Given the description of an element on the screen output the (x, y) to click on. 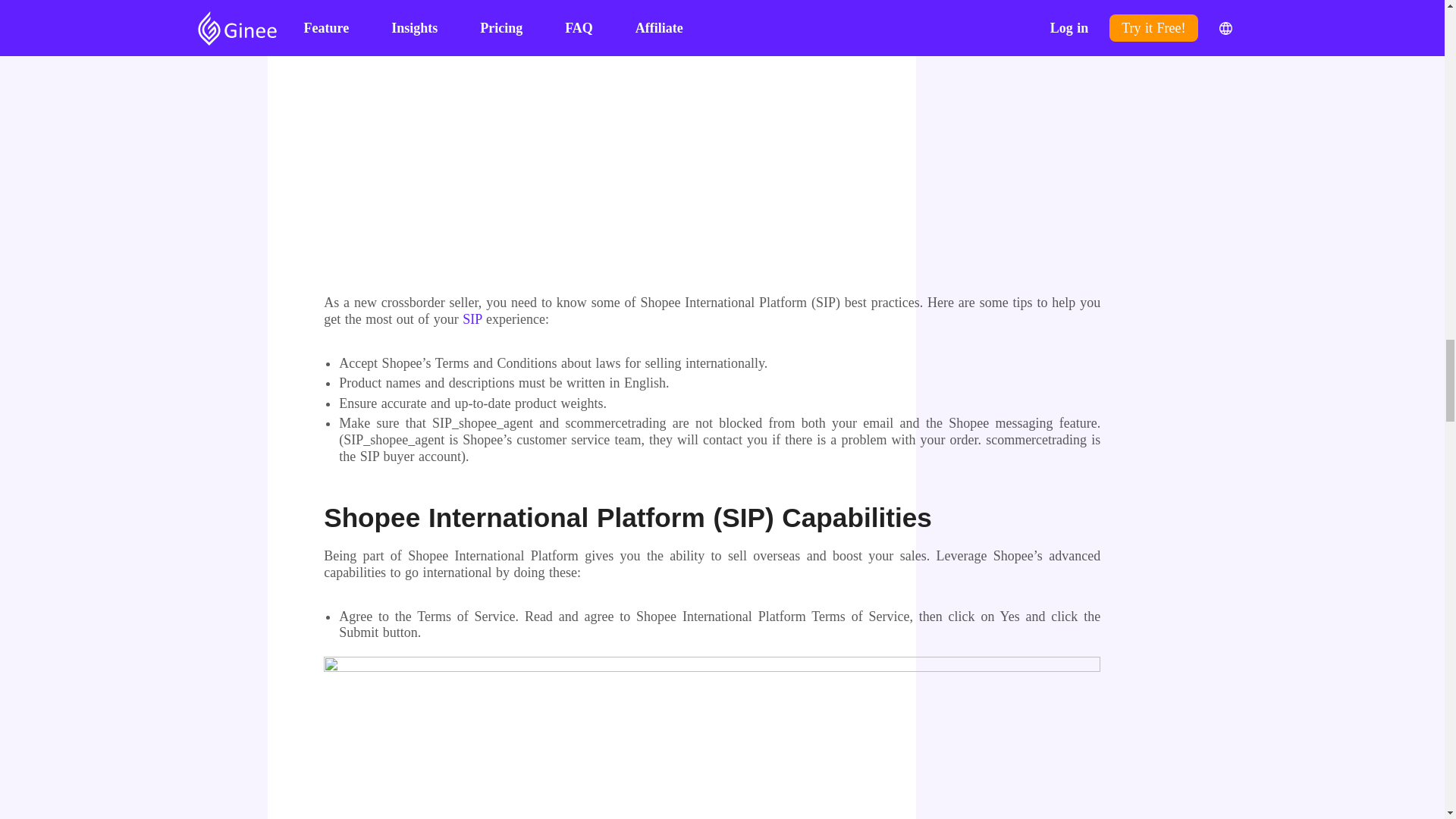
SIP (472, 319)
